Given the description of an element on the screen output the (x, y) to click on. 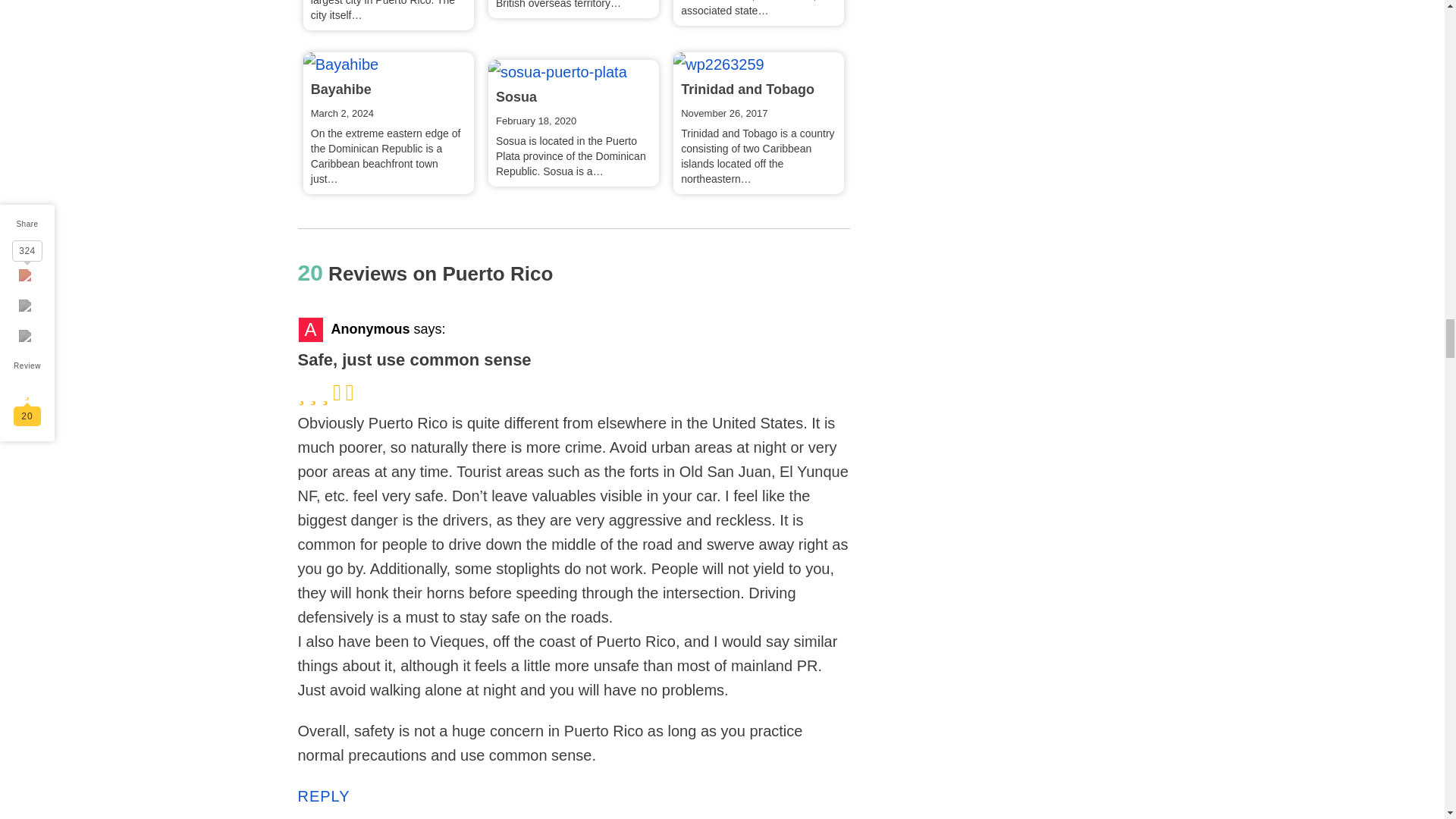
Trinidad and Tobago (717, 64)
Bayahibe (340, 64)
Sosua (557, 71)
